Given the description of an element on the screen output the (x, y) to click on. 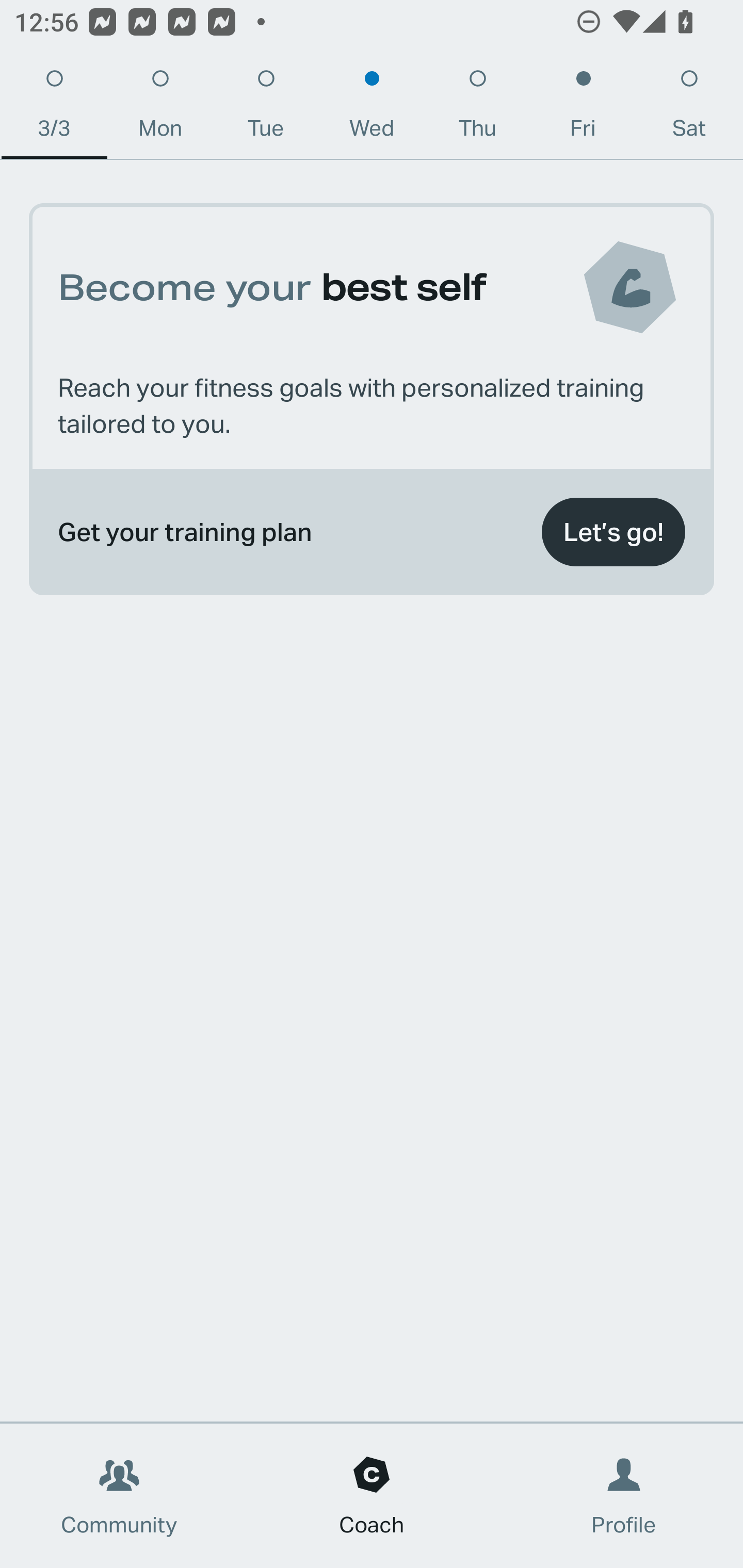
3/3 (53, 108)
Mon (159, 108)
Tue (265, 108)
Wed (371, 108)
Thu (477, 108)
Fri (583, 108)
Sat (689, 108)
Let’s go! (613, 532)
Community (119, 1495)
Profile (624, 1495)
